Given the description of an element on the screen output the (x, y) to click on. 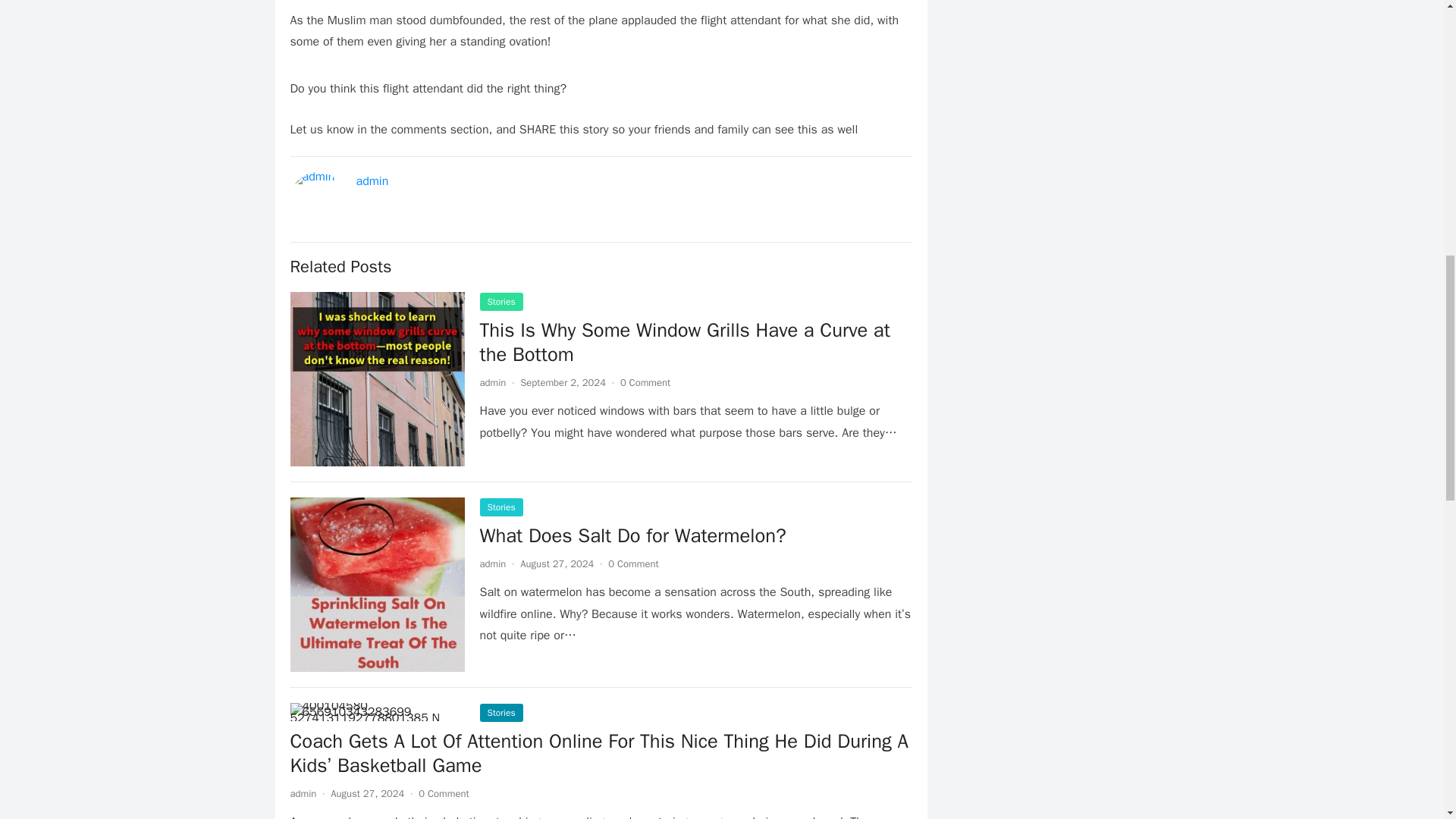
0 Comment (633, 563)
0 Comment (644, 382)
Stories (500, 301)
admin (492, 382)
Stories (500, 506)
admin (372, 181)
admin (492, 563)
Posts by admin (492, 563)
What Does Salt Do for Watermelon? (632, 535)
Posts by admin (492, 382)
